Given the description of an element on the screen output the (x, y) to click on. 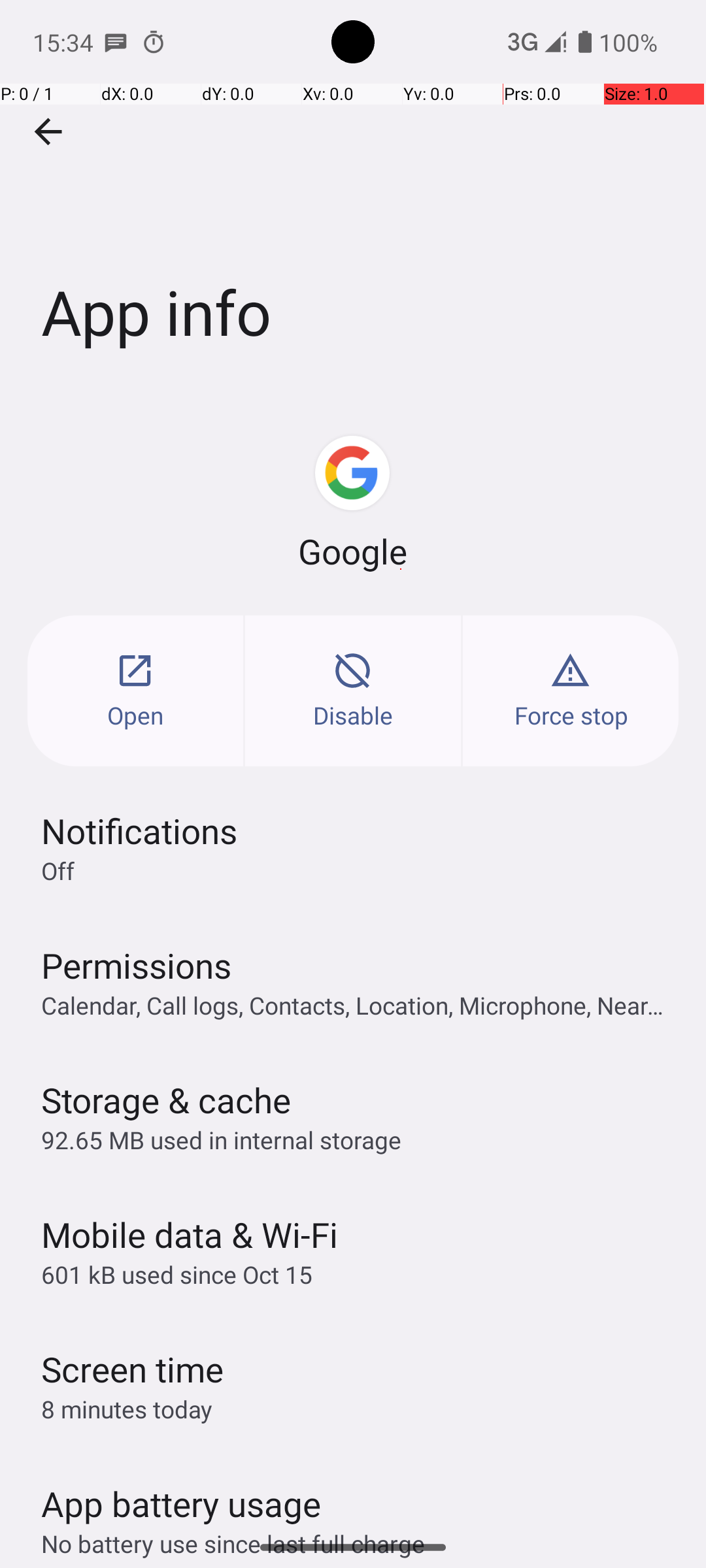
Calendar, Call logs, Contacts, Location, Microphone, Nearby devices, Phone, and SMS Element type: android.widget.TextView (359, 1004)
92.65 MB used in internal storage Element type: android.widget.TextView (221, 1139)
601 kB used since Oct 15 Element type: android.widget.TextView (176, 1273)
8 minutes today Element type: android.widget.TextView (127, 1408)
